Given the description of an element on the screen output the (x, y) to click on. 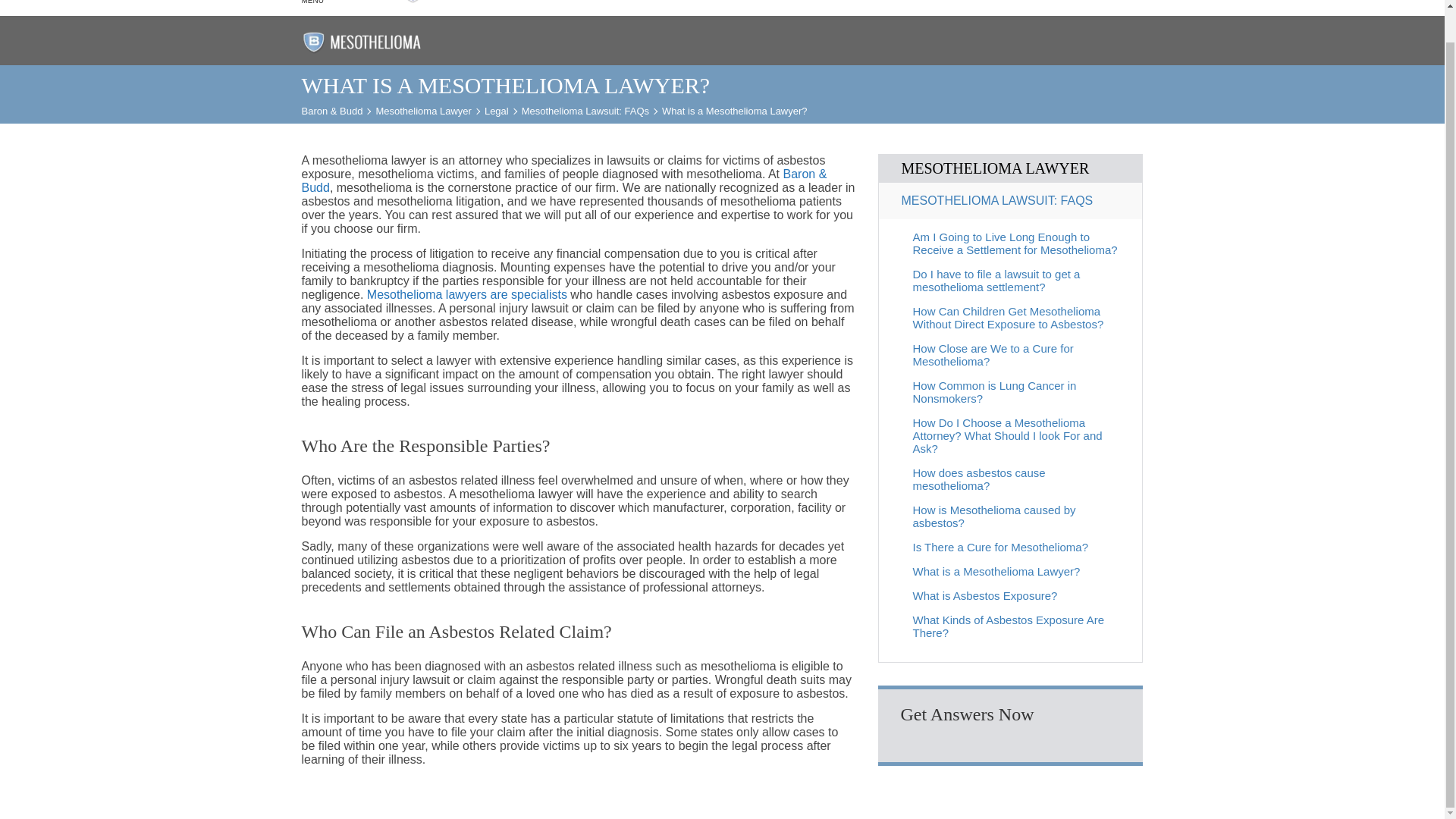
Go to Mesothelioma Lawyer. (422, 111)
Go to . (331, 111)
MENU (317, 6)
Go to Mesothelioma Lawsuit: FAQs. (585, 111)
Go to Legal. (496, 111)
